Given the description of an element on the screen output the (x, y) to click on. 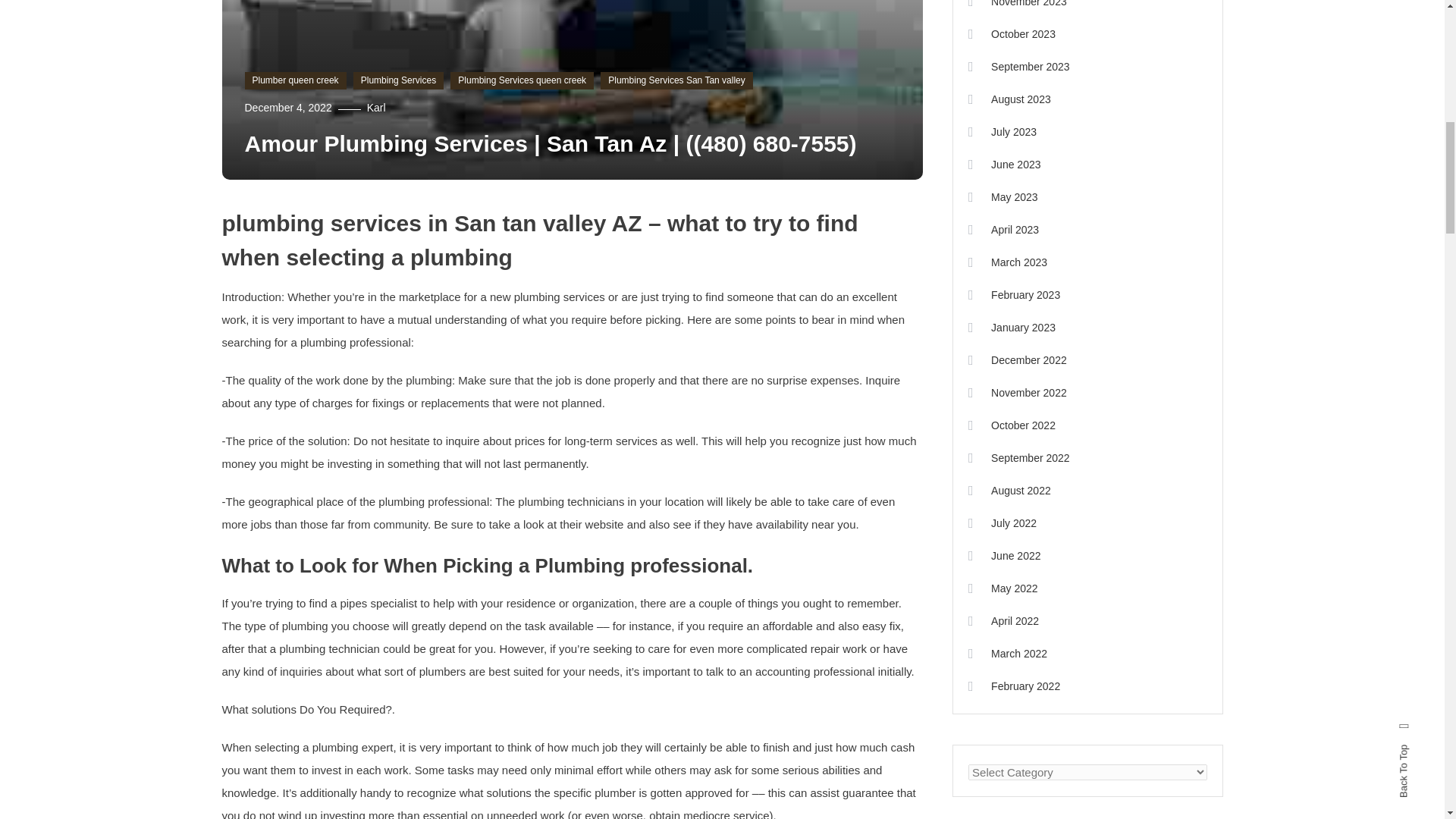
Plumber queen creek (295, 81)
